Given the description of an element on the screen output the (x, y) to click on. 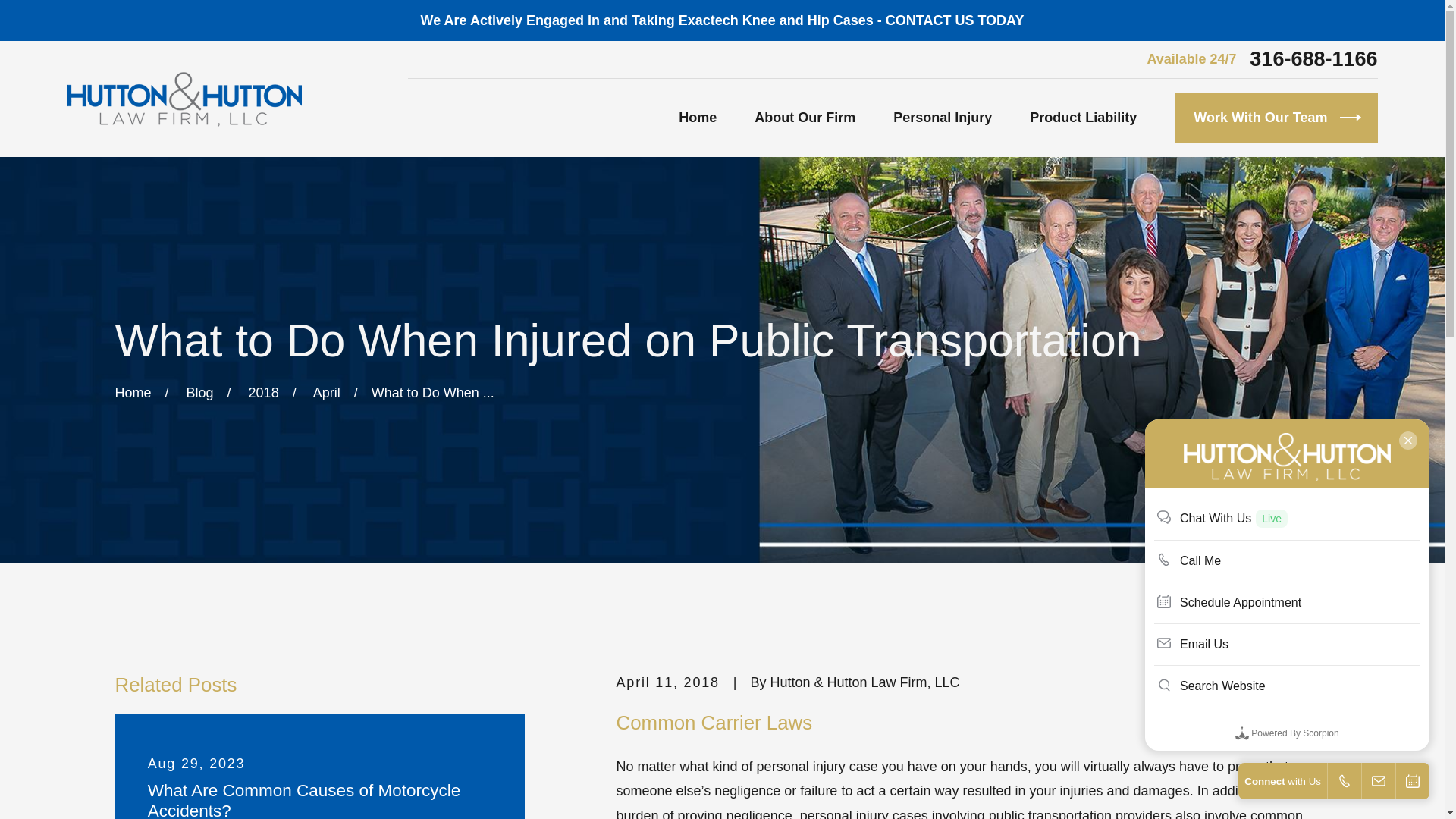
Home (183, 99)
Go Home (133, 392)
Personal Injury (942, 118)
316-688-1166 (1313, 59)
About Our Firm (805, 118)
